Given the description of an element on the screen output the (x, y) to click on. 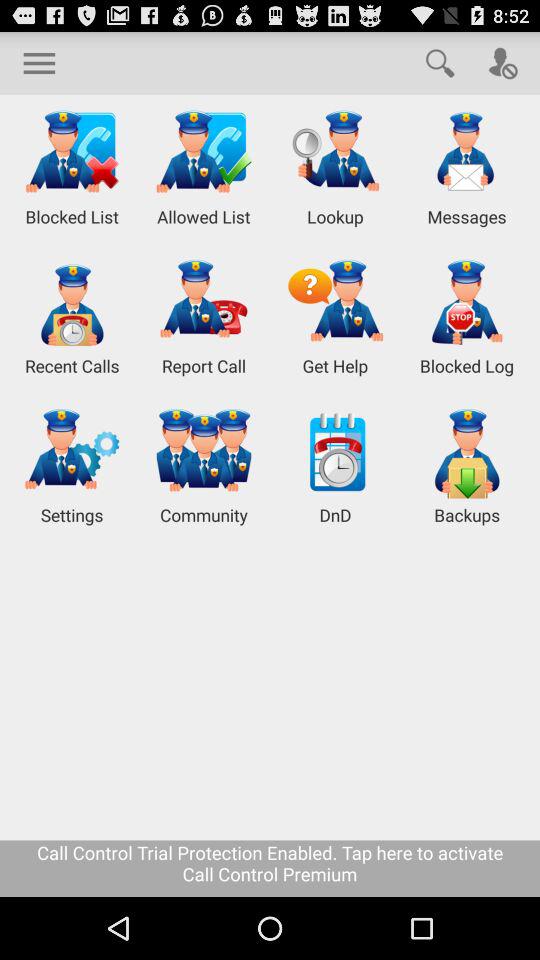
select the icon at the bottom (270, 868)
